Given the description of an element on the screen output the (x, y) to click on. 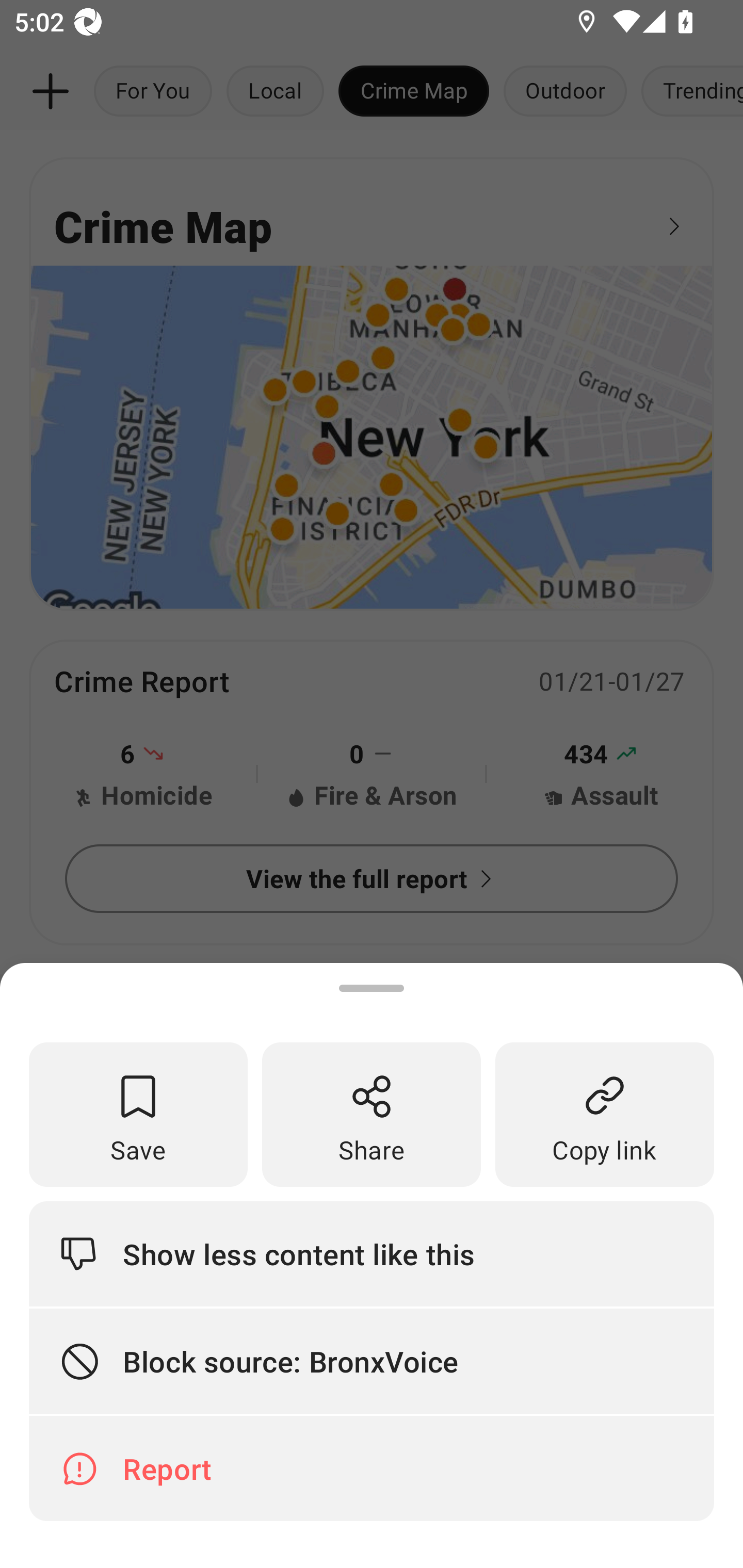
Save (137, 1114)
Share (371, 1114)
Copy link (604, 1114)
Show less content like this (371, 1253)
Block source: BronxVoice (371, 1361)
Report (371, 1467)
